Given the description of an element on the screen output the (x, y) to click on. 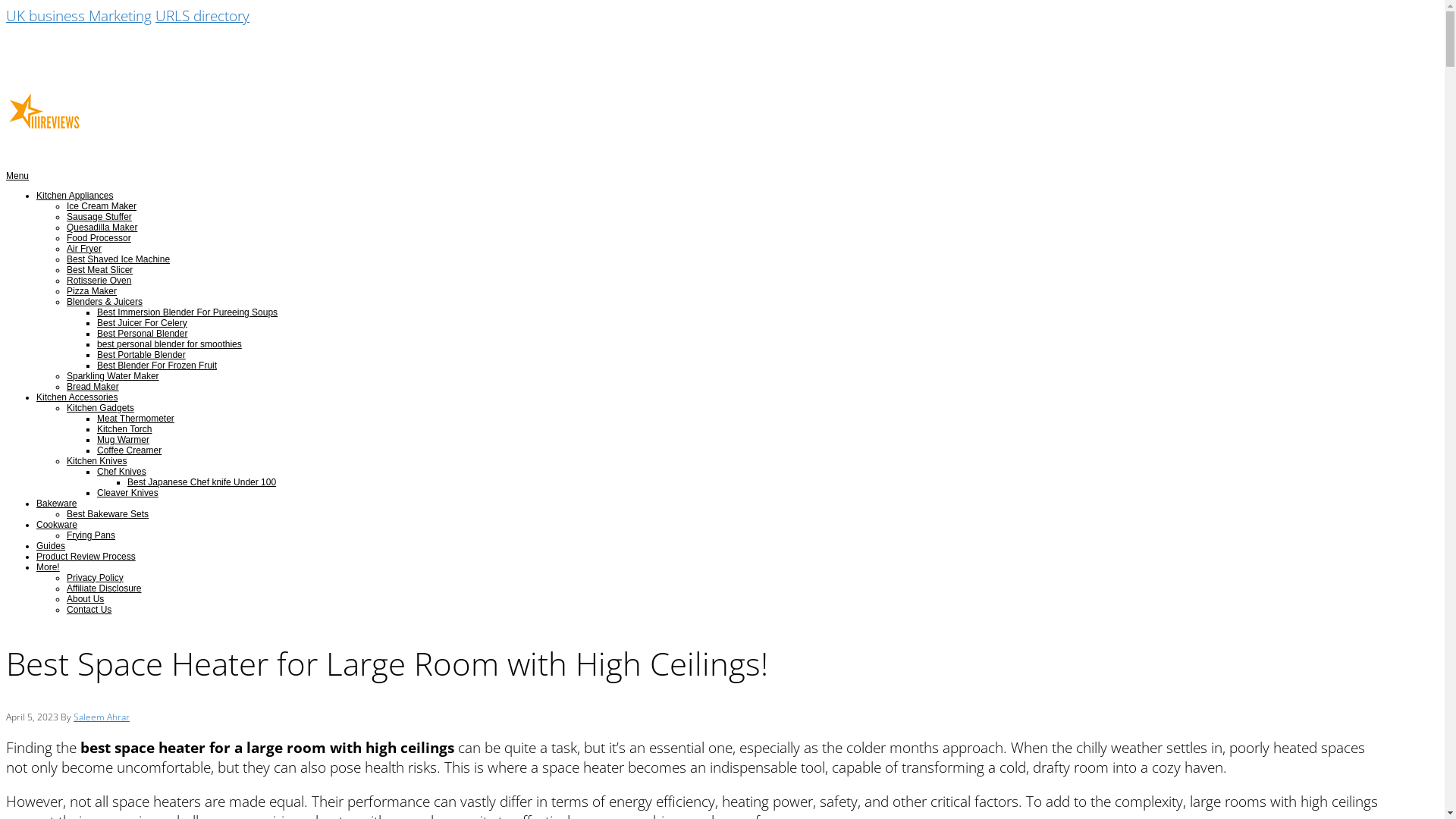
Kitchen Torch Element type: text (124, 428)
Cleaver Knives Element type: text (127, 492)
Kitchen Appliances Element type: text (74, 195)
Affiliate Disclosure Element type: text (103, 588)
Menu Element type: text (17, 175)
Chef Knives Element type: text (121, 471)
Blenders & Juicers Element type: text (104, 301)
Best Juicer For Celery Element type: text (142, 322)
Coffee Creamer Element type: text (129, 450)
Pizza Maker Element type: text (91, 290)
Food Processor Element type: text (98, 237)
About Us Element type: text (84, 598)
Ice Cream Maker Element type: text (101, 205)
URLS directory Element type: text (202, 15)
Best Meat Slicer Element type: text (99, 269)
Best Portable Blender Element type: text (141, 354)
Contact Us Element type: text (88, 609)
Privacy Policy Element type: text (94, 577)
Sparkling Water Maker Element type: text (112, 375)
Mug Warmer Element type: text (123, 439)
Best Blender For Frozen Fruit Element type: text (156, 365)
Kitchen Knives Element type: text (96, 460)
More! Element type: text (47, 566)
Meat Thermometer Element type: text (135, 418)
Product Review Process Element type: text (85, 556)
Best Immersion Blender For Pureeing Soups Element type: text (187, 312)
Saleem Ahrar Element type: text (101, 716)
Best Japanese Chef knife Under 100 Element type: text (201, 481)
Best Shaved Ice Machine Element type: text (117, 259)
Best Bakeware Sets Element type: text (107, 513)
UK business Marketing Element type: text (78, 15)
Frying Pans Element type: text (90, 535)
Bakeware Element type: text (56, 503)
Rotisserie Oven Element type: text (98, 280)
Cookware Element type: text (56, 524)
Air Fryer Element type: text (83, 248)
best personal blender for smoothies Element type: text (169, 343)
Sausage Stuffer Element type: text (98, 216)
Best Personal Blender Element type: text (142, 333)
Kitchen Gadgets Element type: text (100, 407)
Bread Maker Element type: text (92, 386)
Quesadilla Maker Element type: text (101, 227)
Guides Element type: text (50, 545)
Kitchen Accessories Element type: text (76, 397)
